Given the description of an element on the screen output the (x, y) to click on. 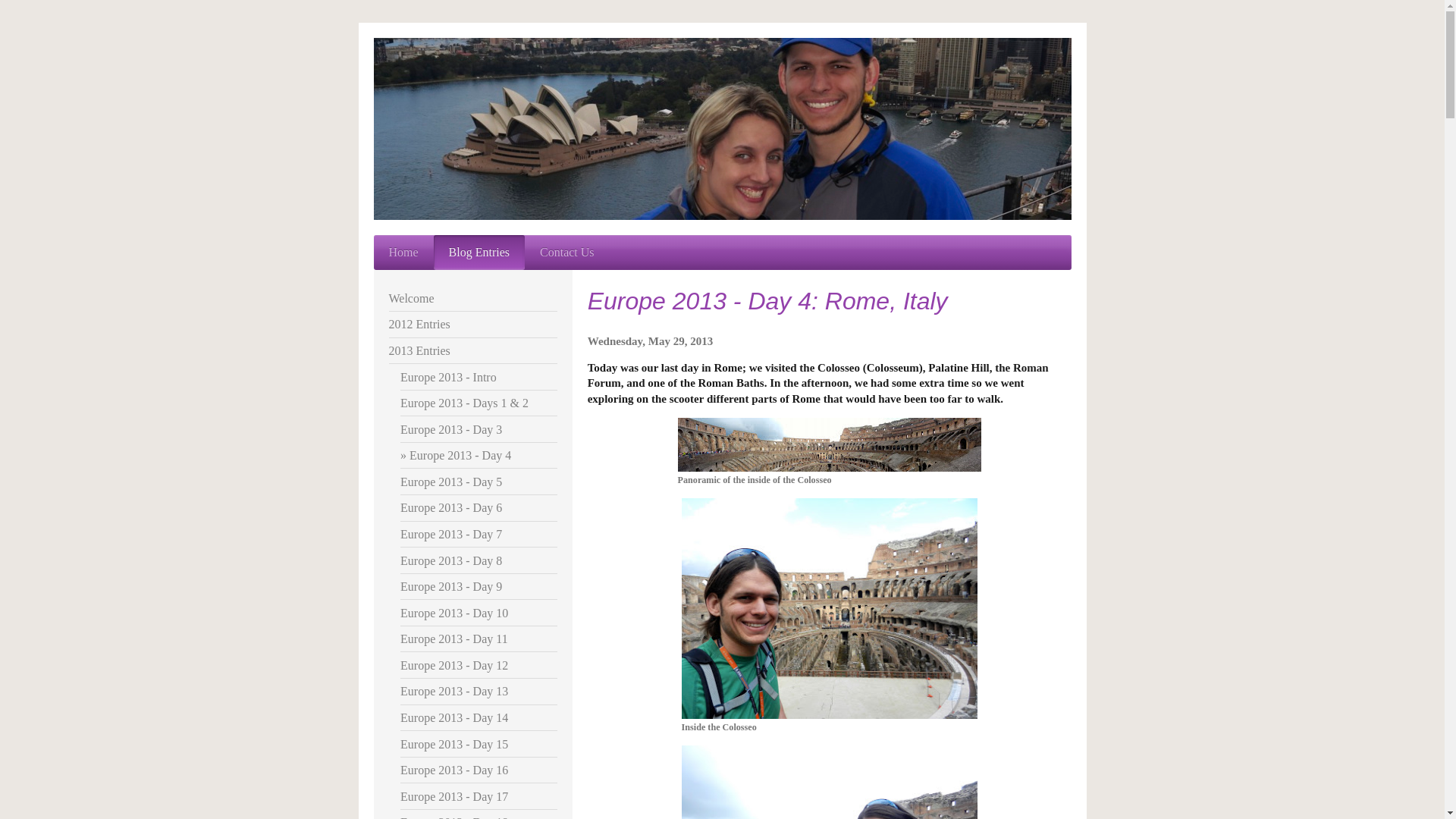
Looking out over the Colosseo (828, 782)
Inside the Colosseo (828, 614)
Panoramic of the inside of the Colosseo (829, 451)
